Given the description of an element on the screen output the (x, y) to click on. 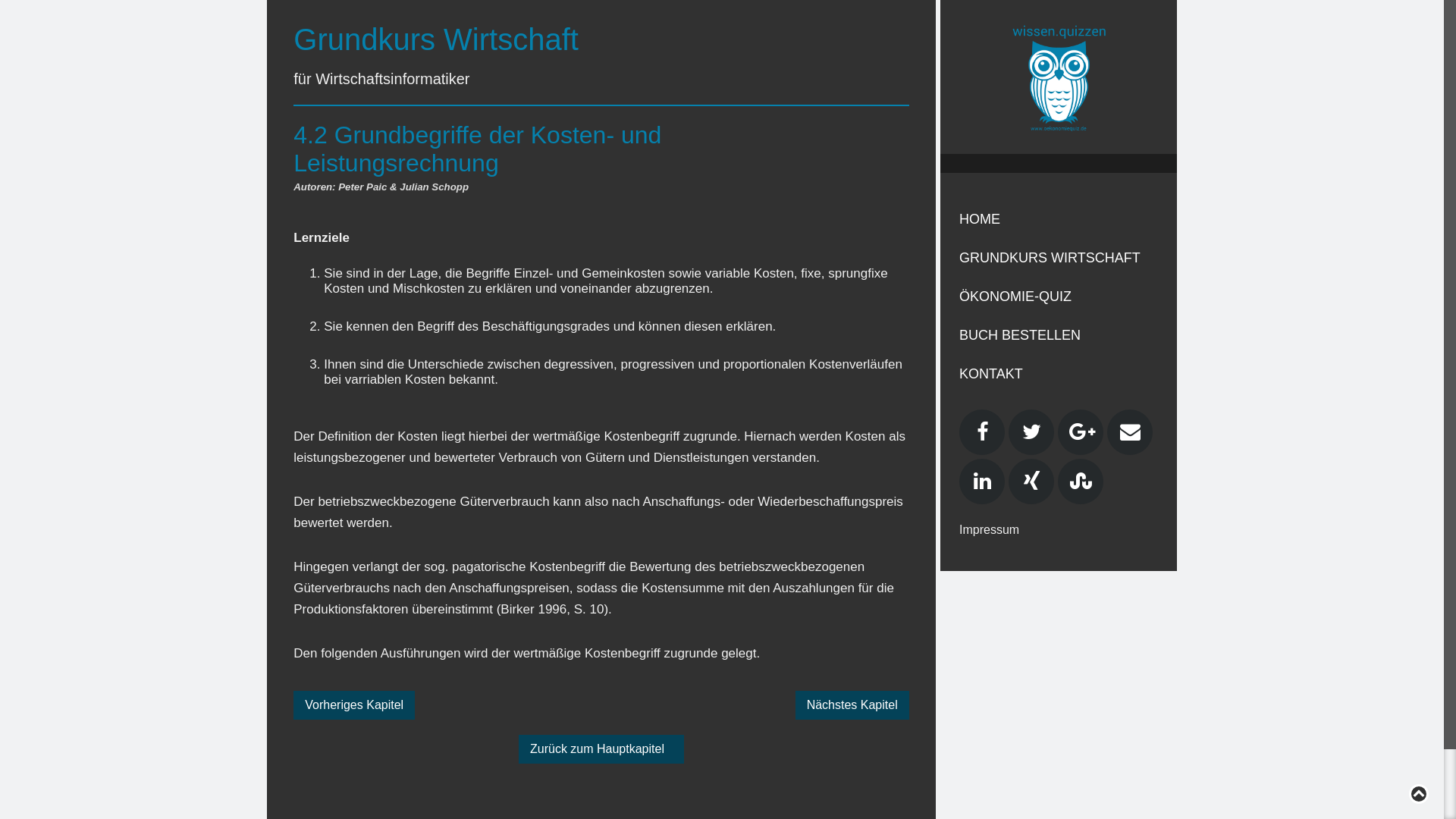
KONTAKT Element type: text (1058, 373)
HOME Element type: text (1058, 219)
BUCH BESTELLEN Element type: text (1058, 335)
Impressum Element type: text (989, 529)
GRUNDKURS WIRTSCHAFT Element type: text (1058, 257)
Vorheriges Kapitel Element type: text (353, 704)
